Given the description of an element on the screen output the (x, y) to click on. 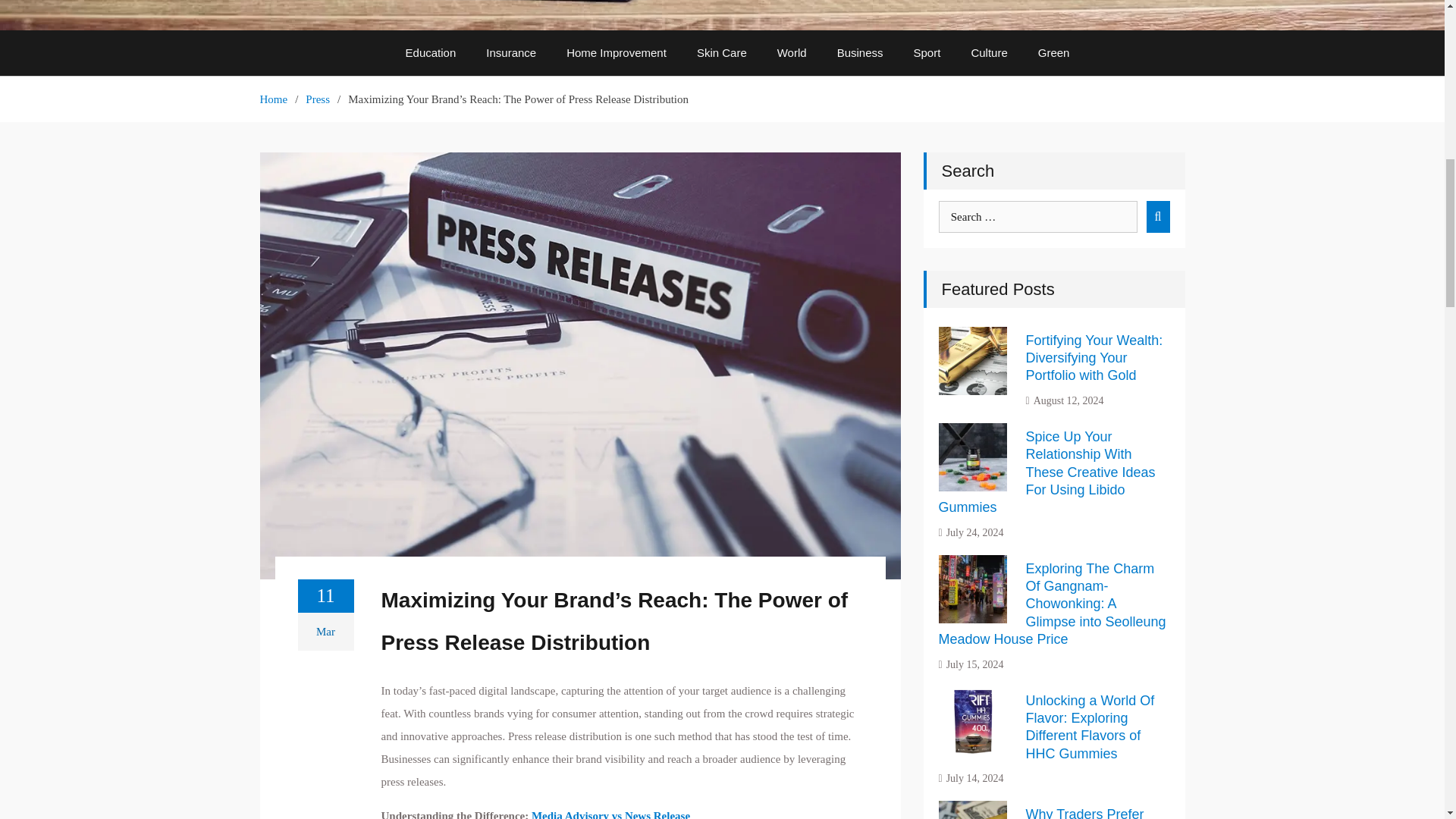
Insurance (510, 53)
Home (272, 99)
World (791, 53)
Press (317, 99)
Sport (927, 53)
Education (430, 53)
Business (860, 53)
